Given the description of an element on the screen output the (x, y) to click on. 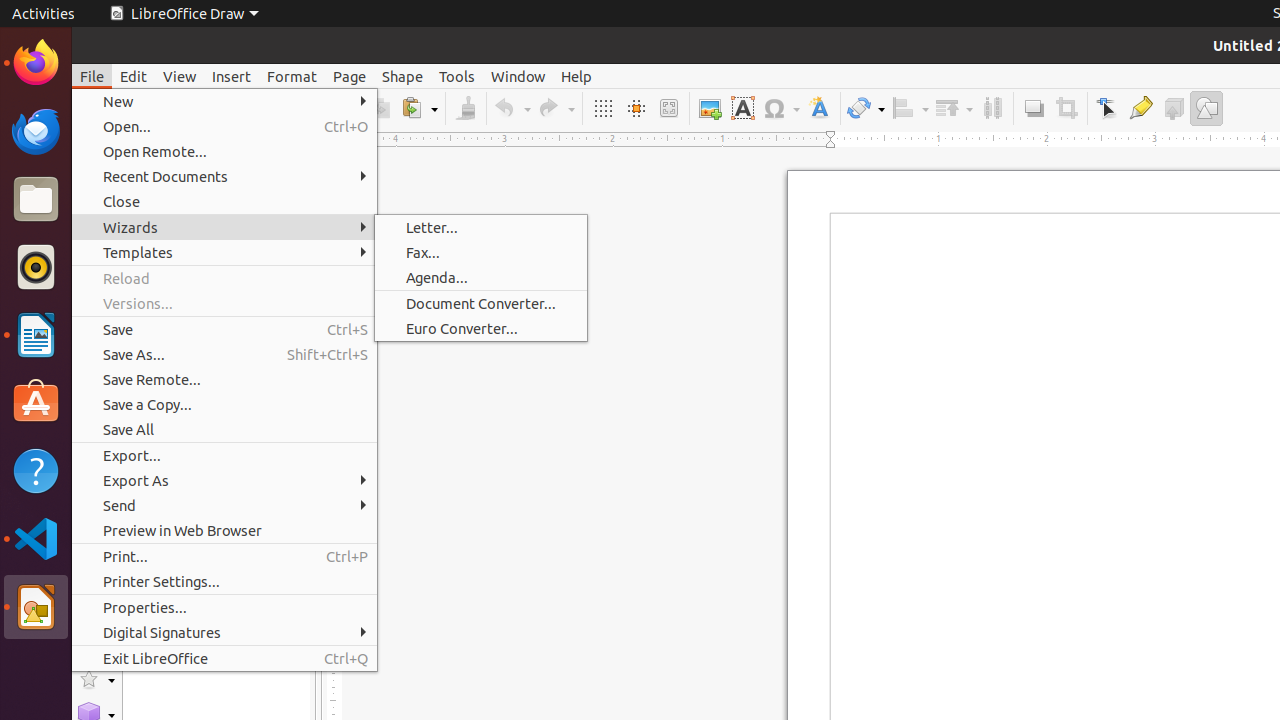
Exit LibreOffice Element type: menu-item (224, 658)
Fontwork Style Element type: toggle-button (819, 108)
Glue Points Element type: push-button (1140, 108)
Fax... Element type: menu-item (481, 252)
Send Element type: menu (224, 505)
